Given the description of an element on the screen output the (x, y) to click on. 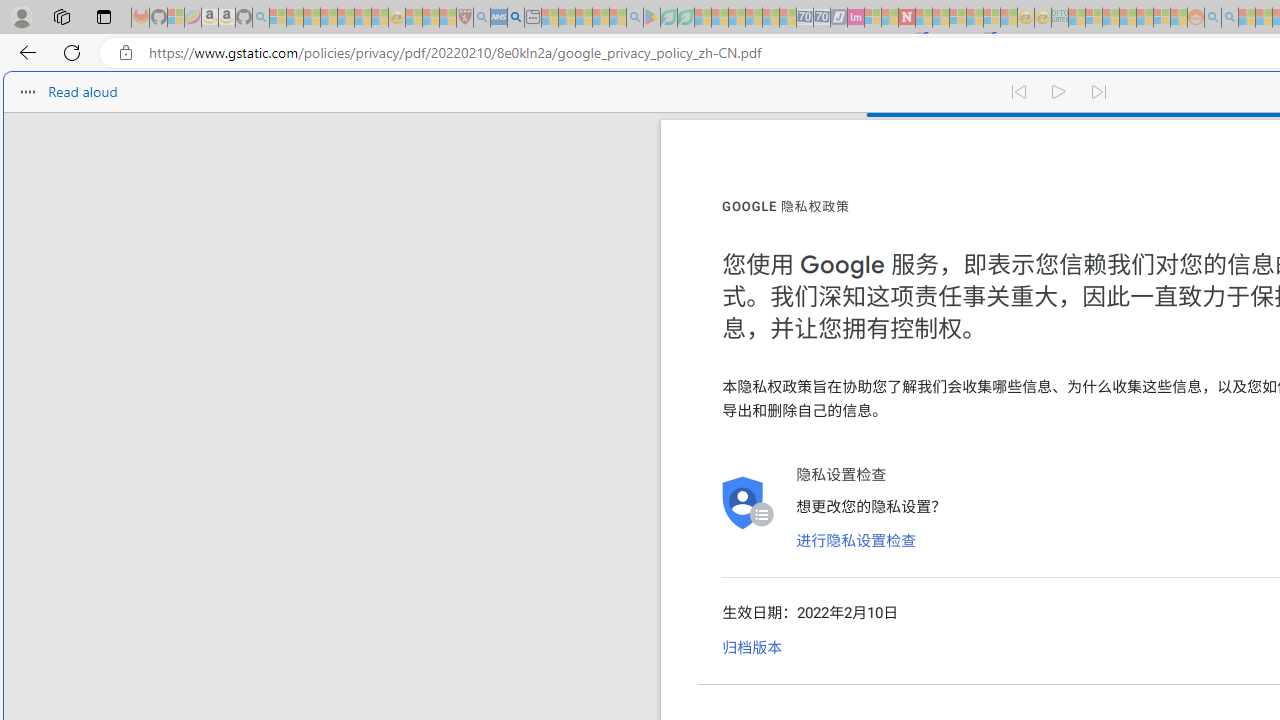
Read previous paragraph (1018, 92)
Read next paragraph (1099, 92)
